Given the description of an element on the screen output the (x, y) to click on. 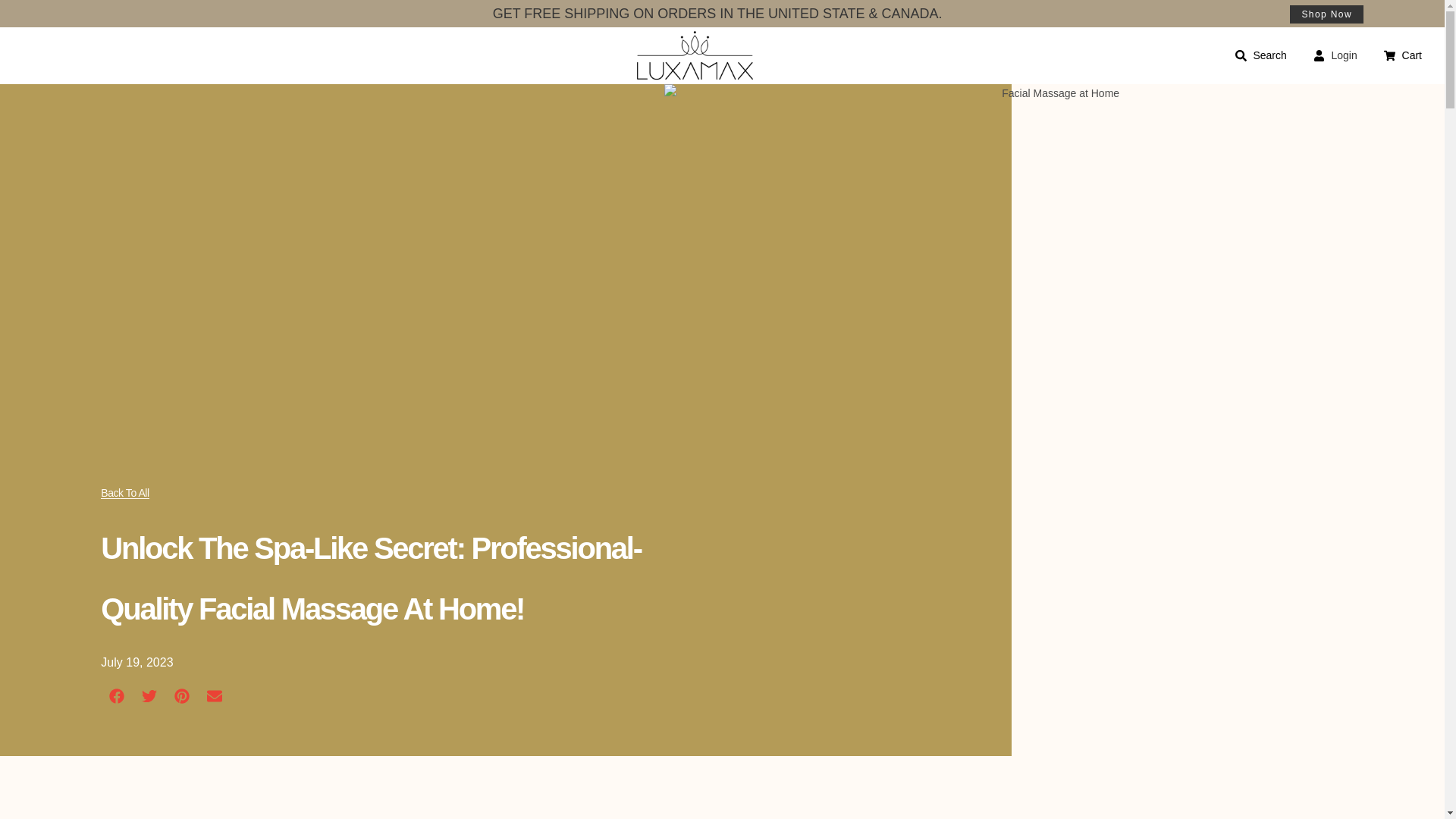
Cart (1403, 55)
Search (1260, 55)
Login (1344, 55)
Back To All (124, 492)
Shop Now (1326, 13)
